Given the description of an element on the screen output the (x, y) to click on. 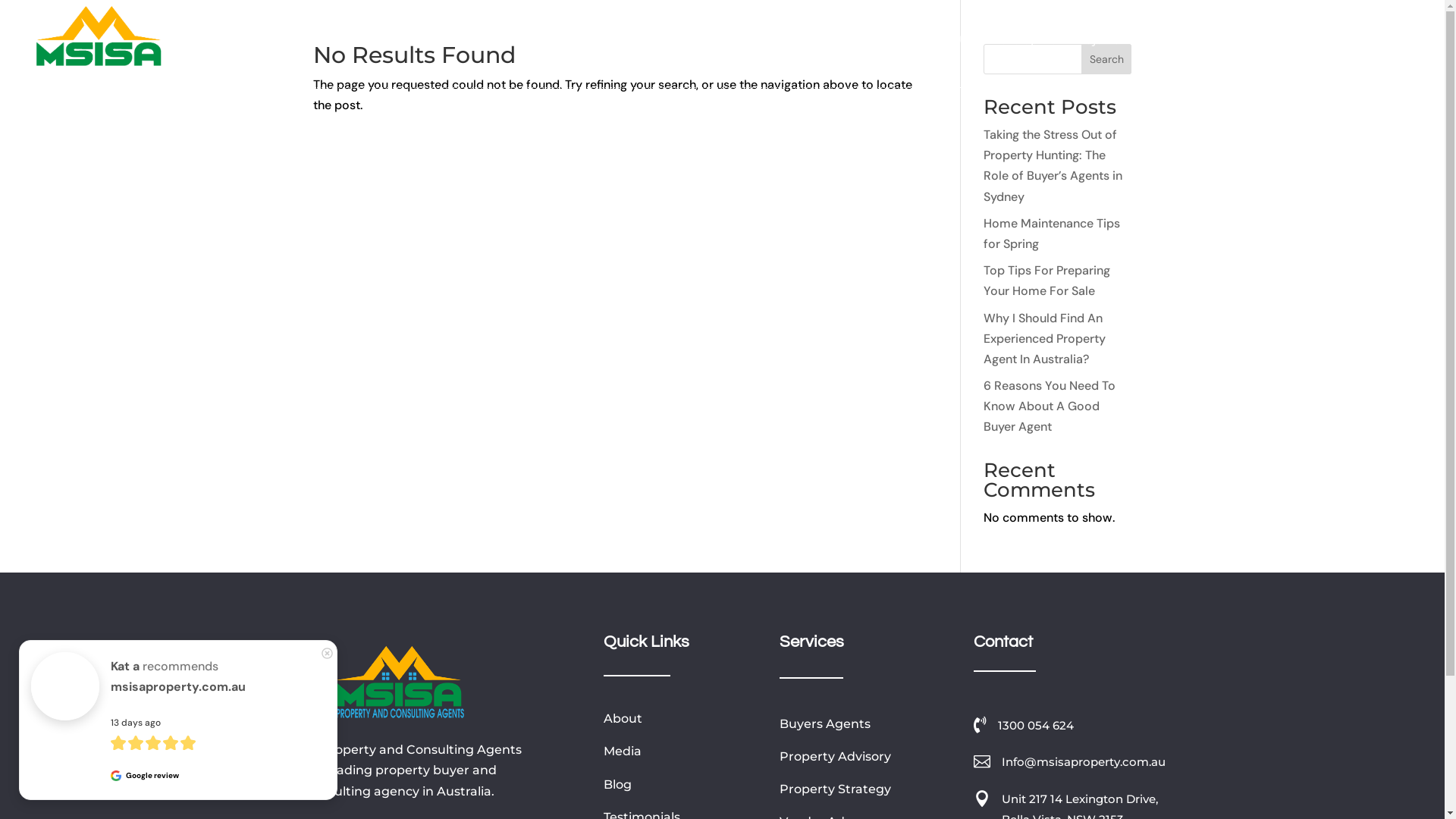
6 Reasons You Need To Know About A Good Buyer Agent Element type: text (1049, 405)
Media Element type: text (622, 750)
Property Strategy Element type: text (835, 788)
Blog Element type: text (617, 784)
Home Maintenance Tips for Spring Element type: text (1051, 233)
About Us Element type: text (947, 40)
Top Tips For Preparing Your Home For Sale Element type: text (1046, 280)
Media Element type: text (747, 40)
msisa Element type: hover (400, 682)
Home Element type: text (468, 40)
Testimonials Element type: text (867, 40)
Property Advisory Element type: text (835, 756)
About Element type: text (622, 718)
Development Projects Element type: text (1055, 40)
Services Element type: text (534, 40)
Client Deals Element type: text (679, 40)
Investment Calculators Element type: text (1203, 40)
Process Element type: text (605, 40)
Search Element type: text (1106, 58)
Buyers Agents Element type: text (824, 723)
Blogs Element type: text (797, 40)
